Given the description of an element on the screen output the (x, y) to click on. 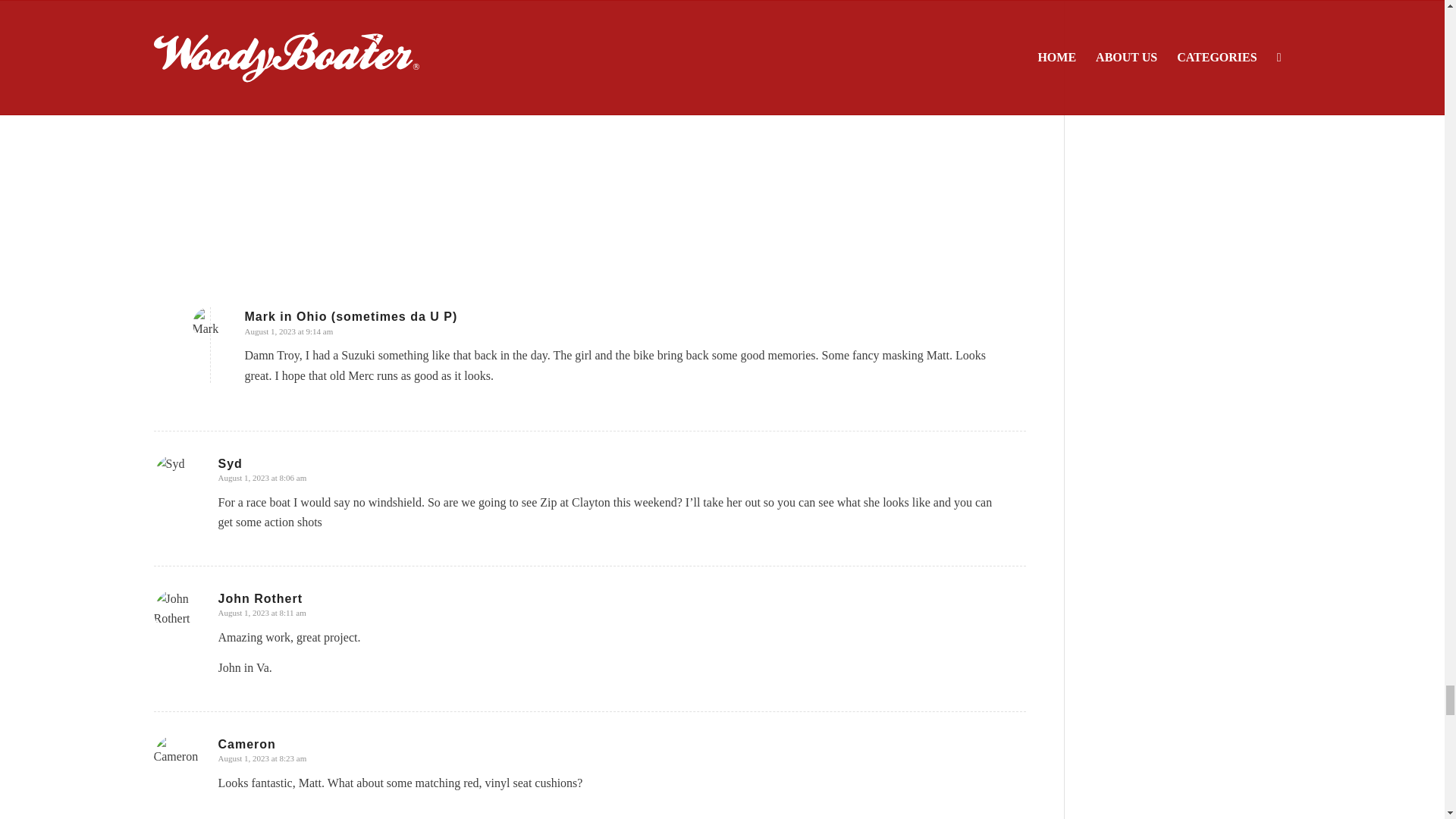
August 1, 2023 at 9:14 am (288, 330)
August 1, 2023 at 8:23 am (262, 757)
August 1, 2023 at 8:06 am (262, 477)
August 1, 2023 at 8:11 am (261, 612)
